Given the description of an element on the screen output the (x, y) to click on. 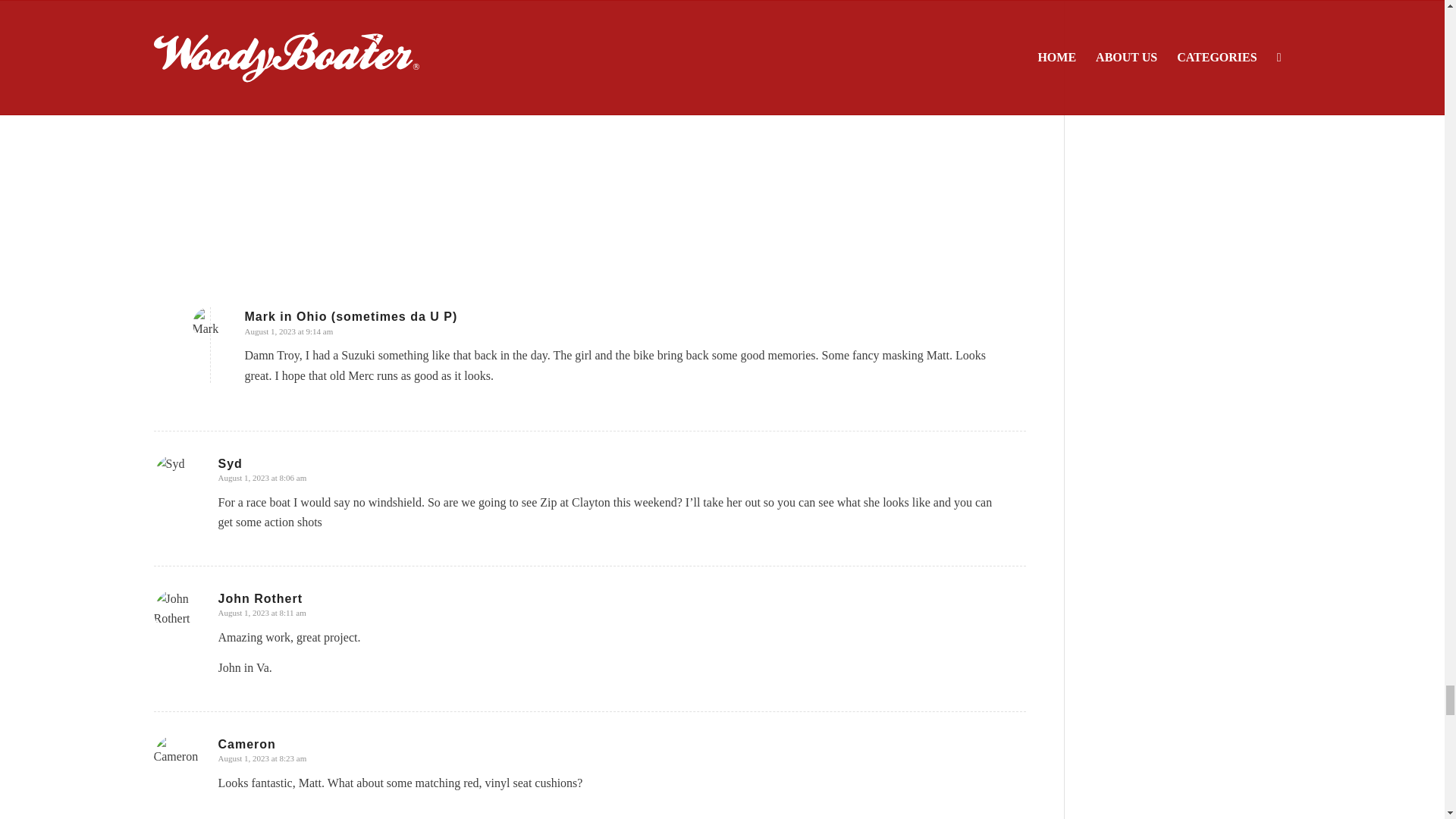
August 1, 2023 at 9:14 am (288, 330)
August 1, 2023 at 8:23 am (262, 757)
August 1, 2023 at 8:06 am (262, 477)
August 1, 2023 at 8:11 am (261, 612)
